Given the description of an element on the screen output the (x, y) to click on. 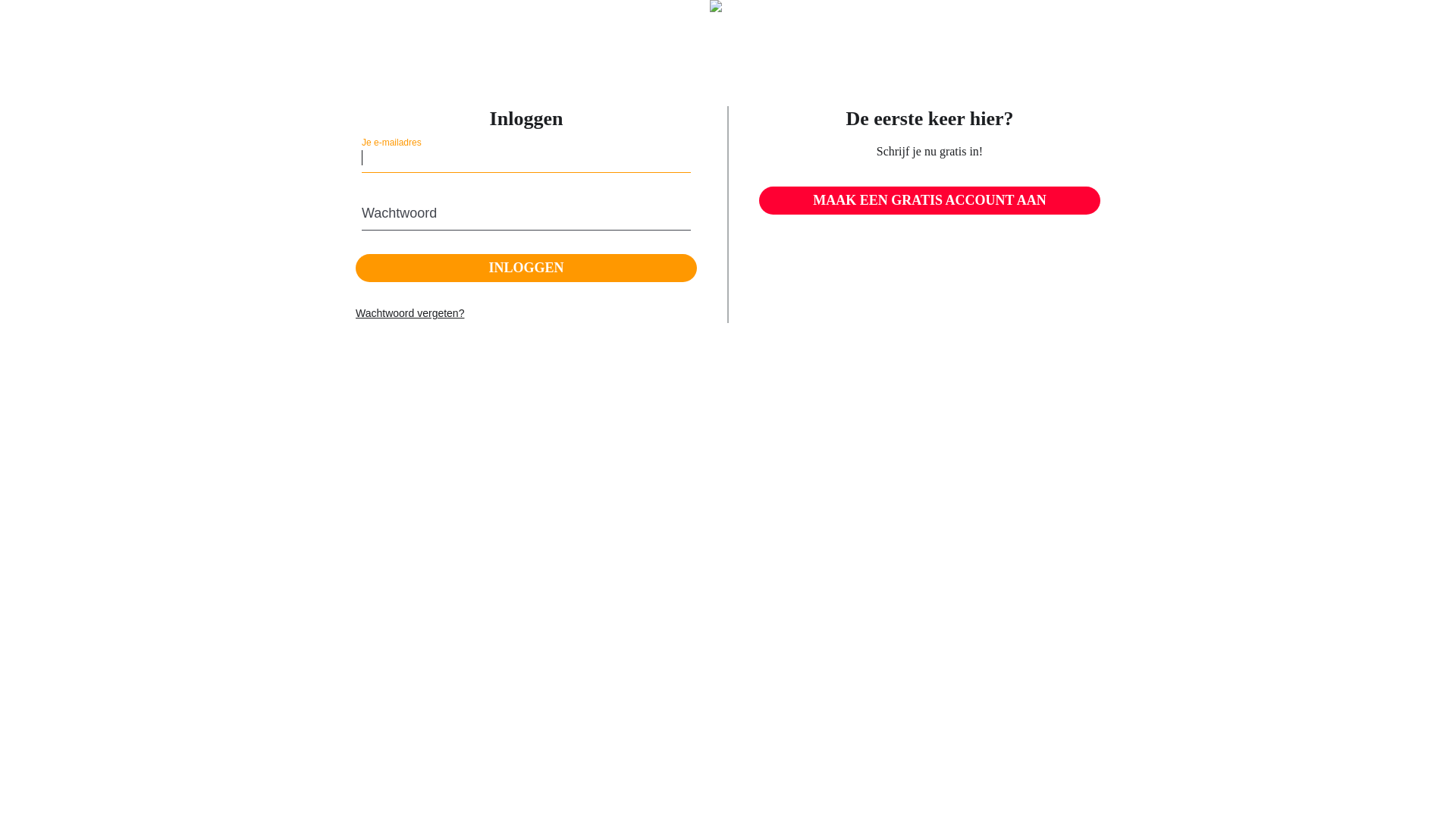
INLOGGEN Element type: text (525, 268)
Wachtwoord vergeten? Element type: text (409, 313)
MAAK EEN GRATIS ACCOUNT AAN Element type: text (929, 200)
